Given the description of an element on the screen output the (x, y) to click on. 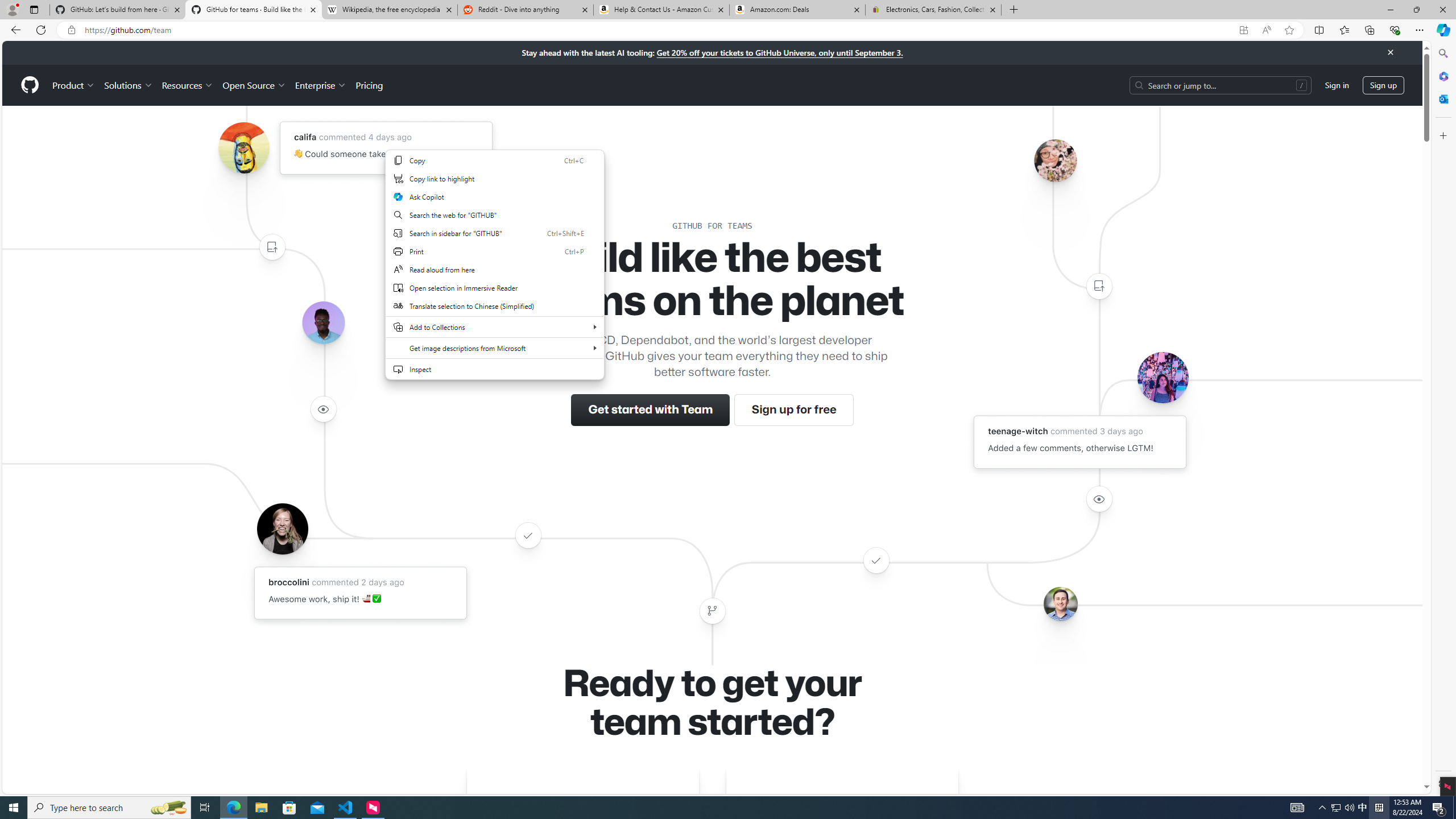
Web context (494, 264)
